Given the description of an element on the screen output the (x, y) to click on. 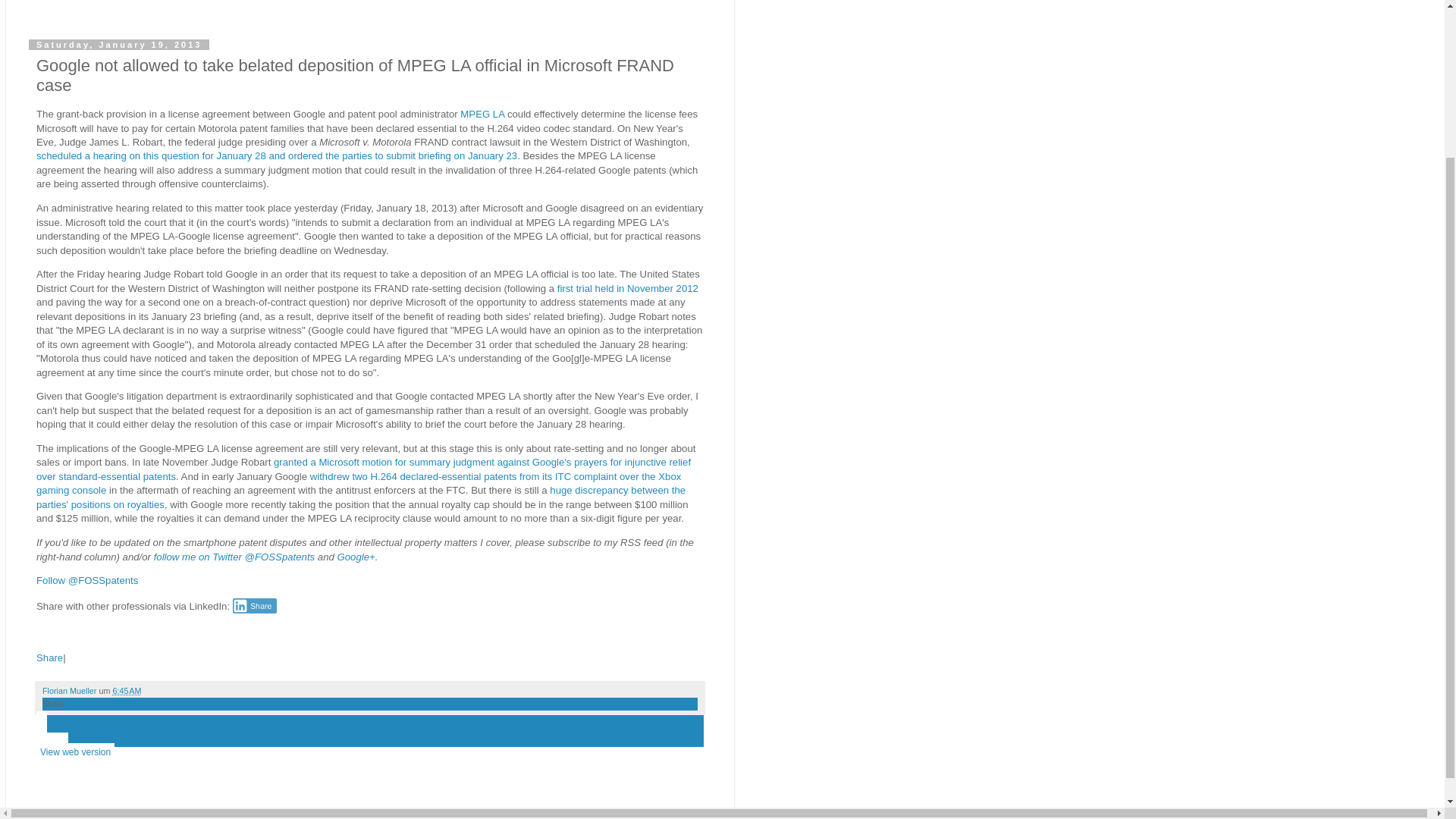
author profile (70, 690)
permanent link (126, 690)
Share (49, 657)
Florian Mueller (70, 690)
Share (255, 605)
View web version (75, 751)
Share (53, 703)
Home (52, 741)
Blogger (393, 811)
MPEG LA (481, 113)
first trial held in November 2012 (627, 288)
